Given the description of an element on the screen output the (x, y) to click on. 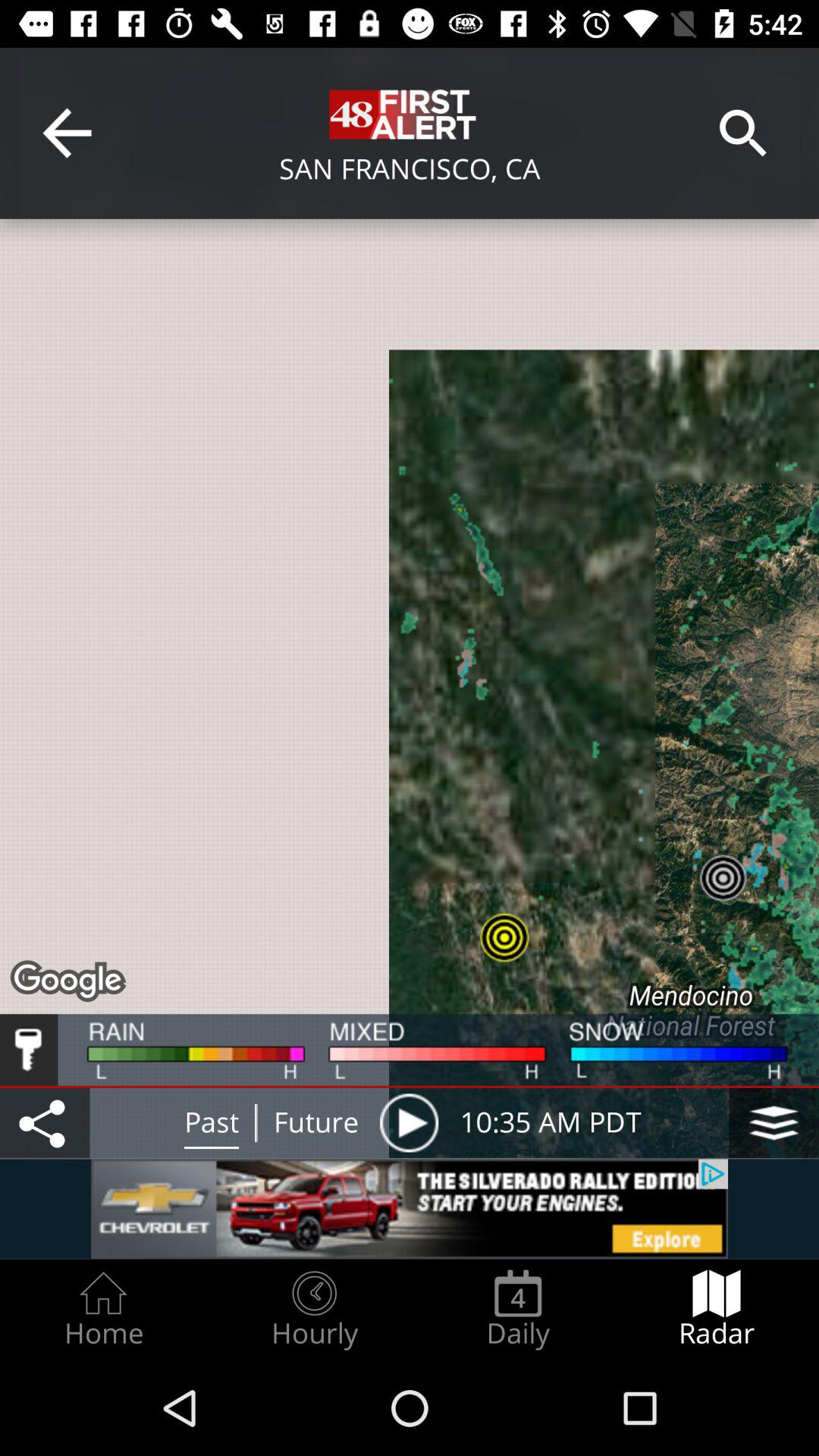
advertisement banner (409, 1208)
